Given the description of an element on the screen output the (x, y) to click on. 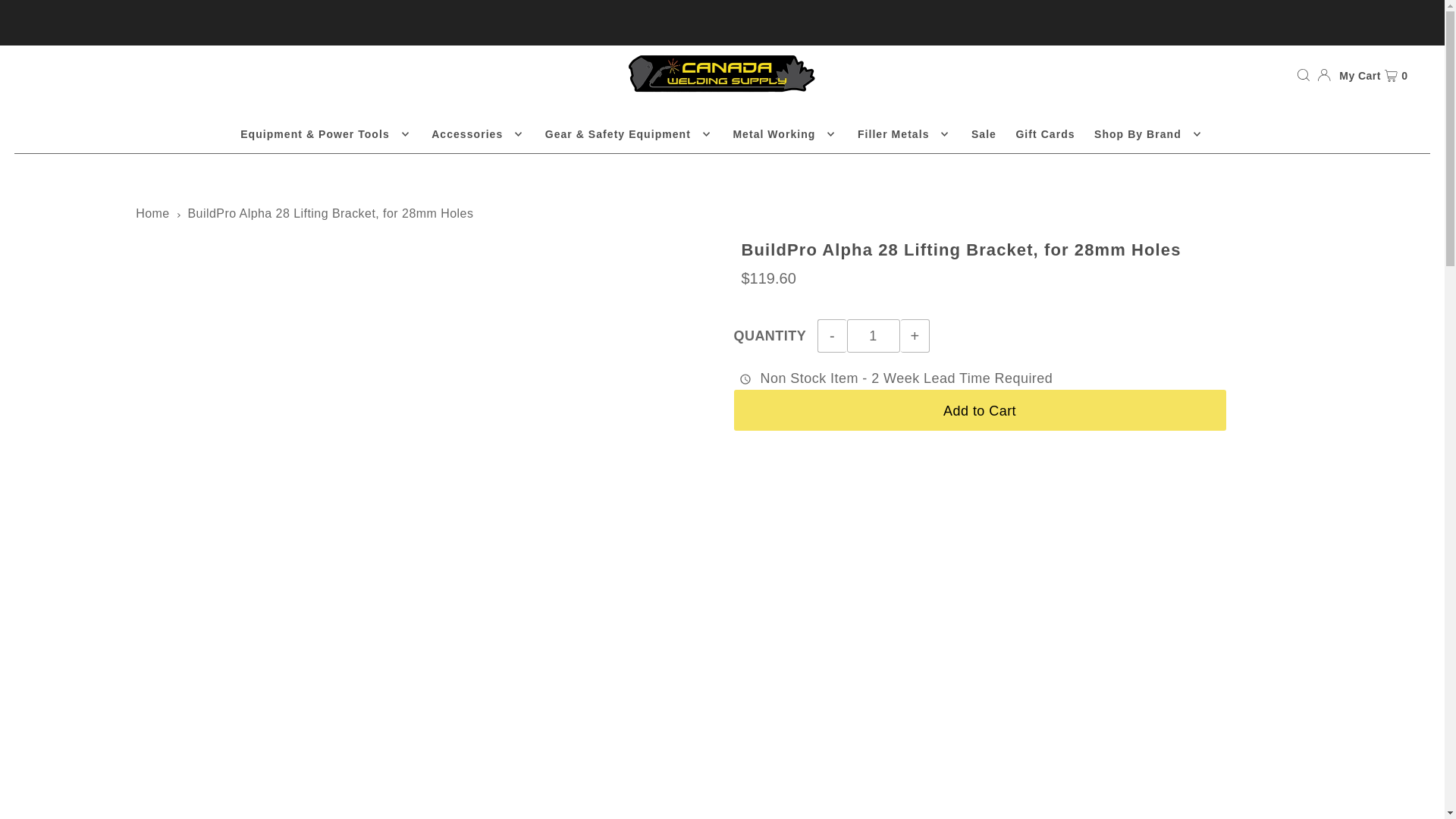
1 (873, 335)
Add to Cart (979, 409)
Home (151, 213)
